Given the description of an element on the screen output the (x, y) to click on. 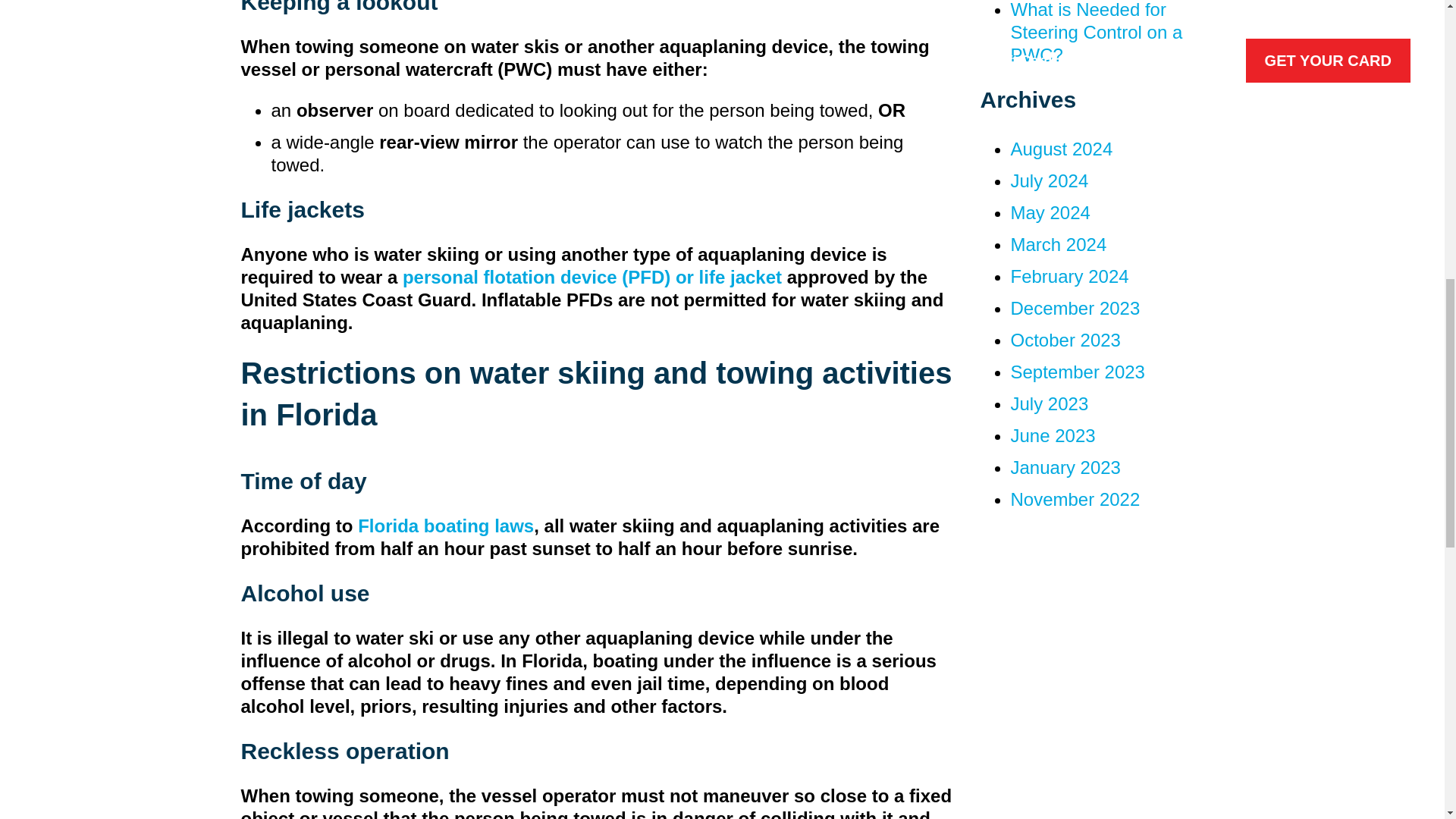
Florida boating laws (446, 525)
July 2024 (1048, 180)
What is Needed for Steering Control on a PWC? (1096, 32)
October 2023 (1064, 340)
February 2024 (1069, 276)
September 2023 (1077, 371)
March 2024 (1058, 244)
May 2024 (1049, 212)
December 2023 (1075, 308)
August 2024 (1061, 148)
